Given the description of an element on the screen output the (x, y) to click on. 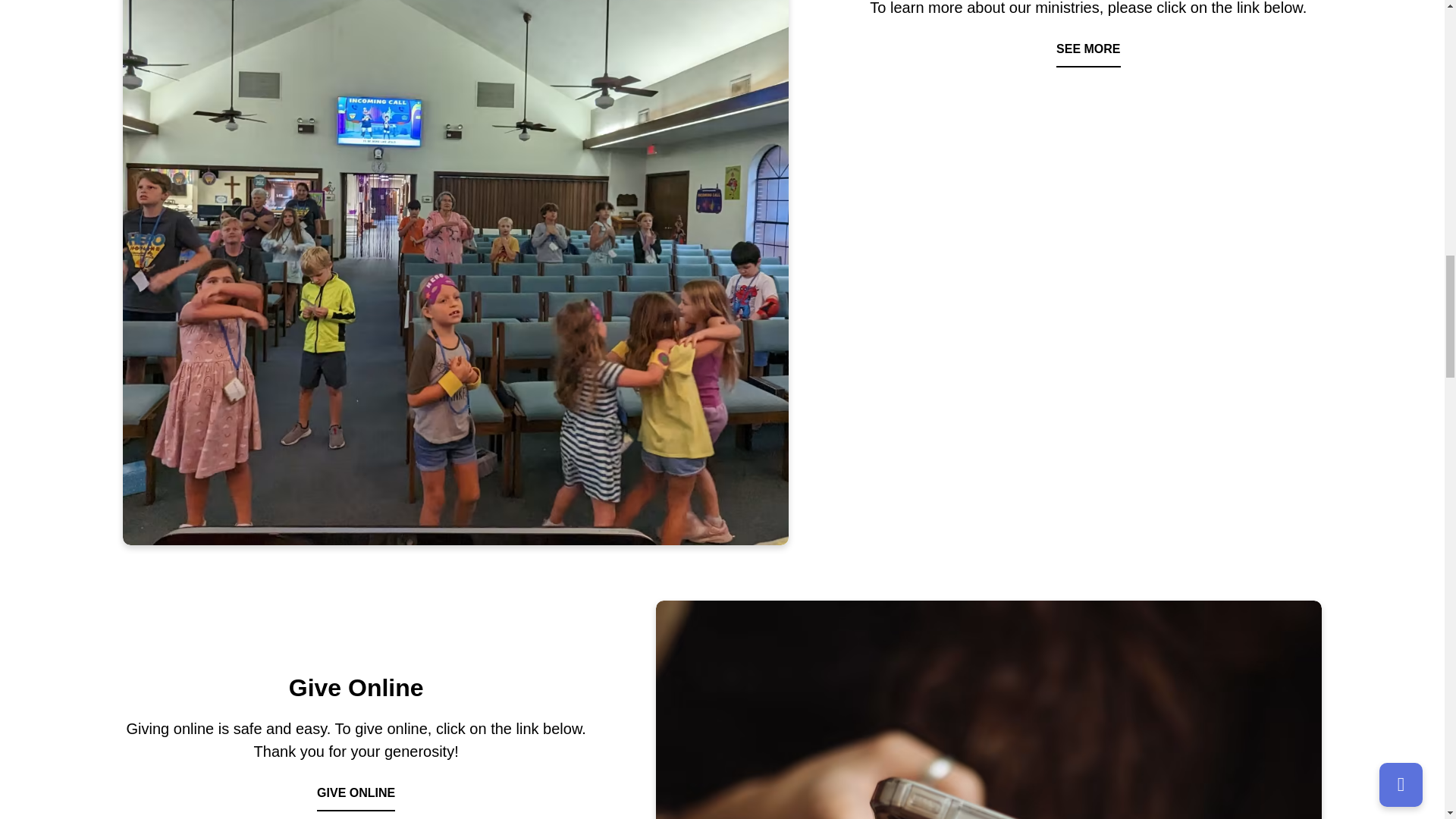
SEE MORE (1088, 49)
GIVE ONLINE (355, 792)
